Given the description of an element on the screen output the (x, y) to click on. 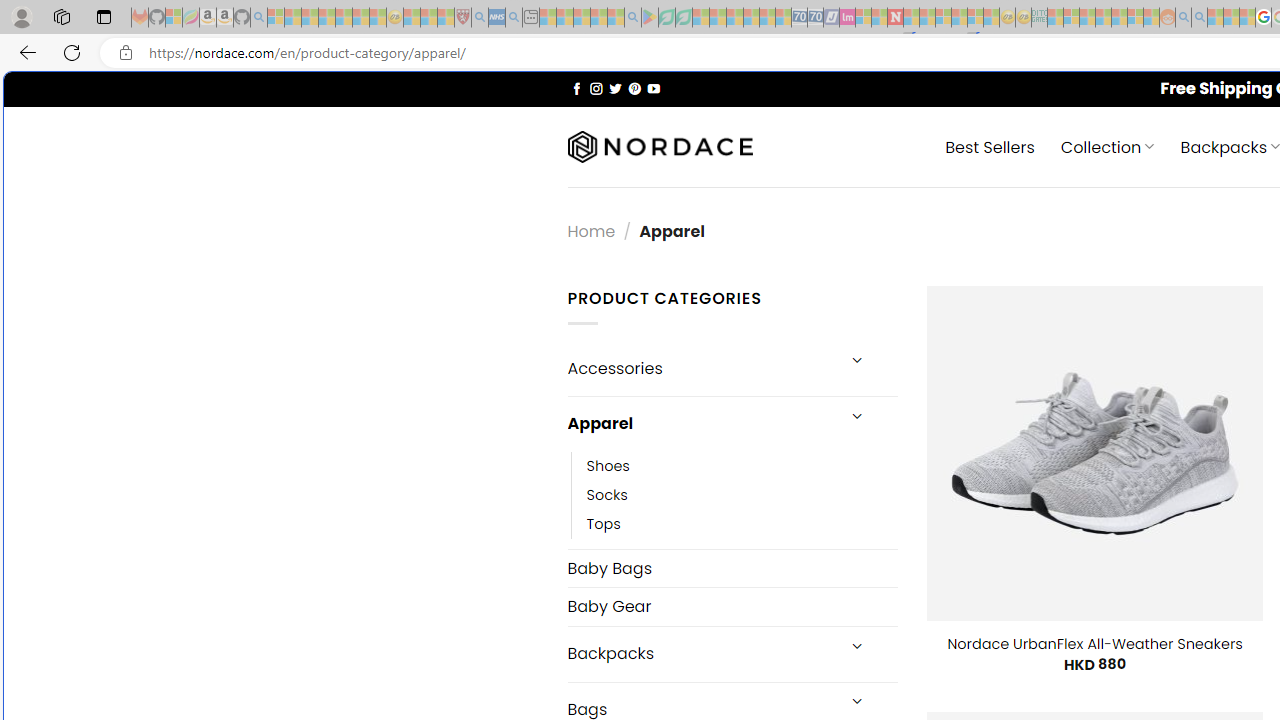
Tops (742, 524)
Follow on Twitter (615, 88)
Kinda Frugal - MSN - Sleeping (1119, 17)
Follow on Instagram (596, 88)
The Weather Channel - MSN - Sleeping (309, 17)
Apparel (700, 423)
